Given the description of an element on the screen output the (x, y) to click on. 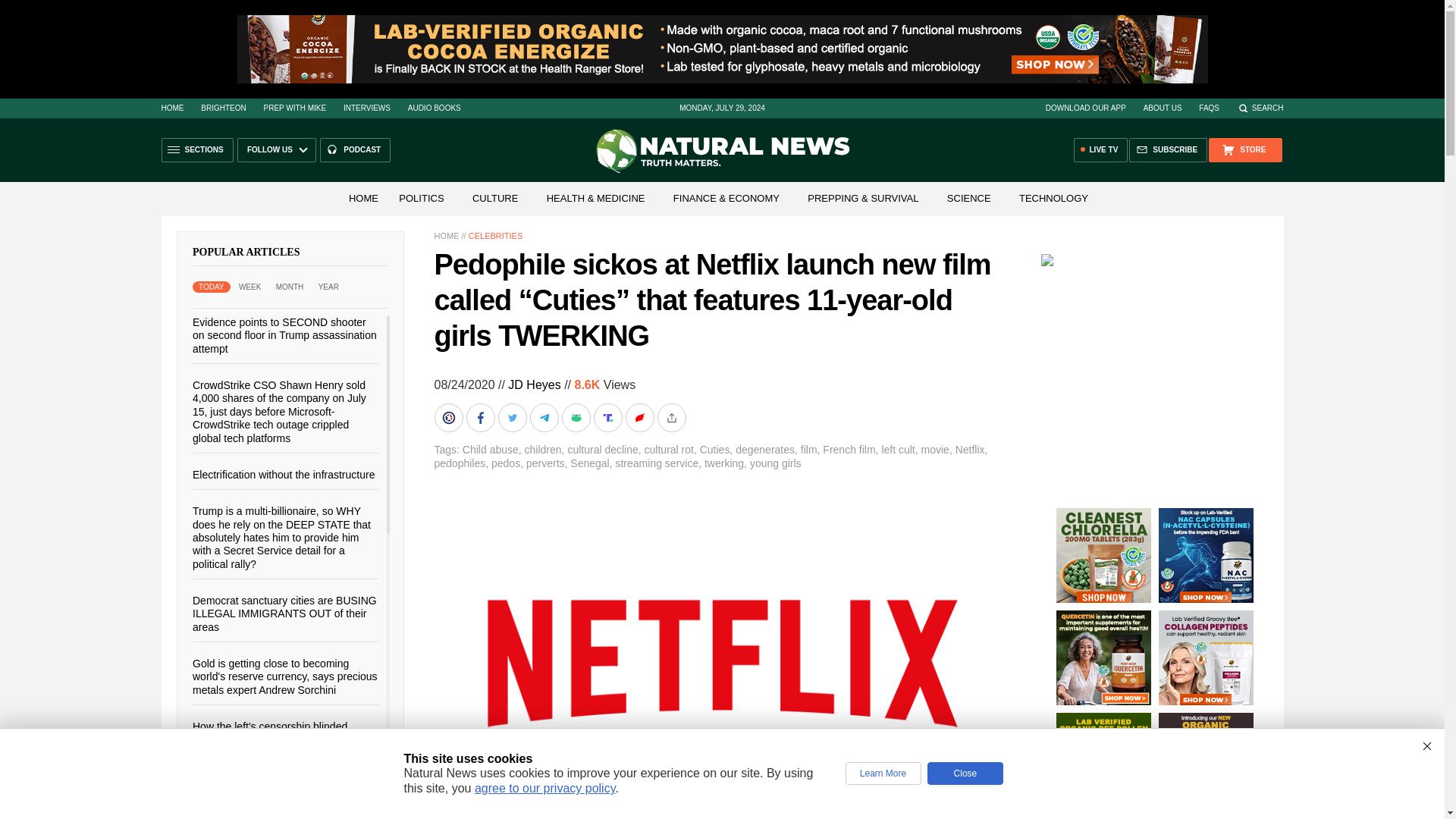
Share on GAB (576, 417)
POLITICS (421, 197)
Search (1260, 108)
BRIGHTEON (223, 108)
TECHNOLOGY (1053, 197)
Share on Brighteon.Social (449, 417)
STORE (1244, 150)
HOME (171, 108)
AUDIO BOOKS (434, 108)
INTERVIEWS (366, 108)
DOWNLOAD OUR APP (1085, 108)
